Given the description of an element on the screen output the (x, y) to click on. 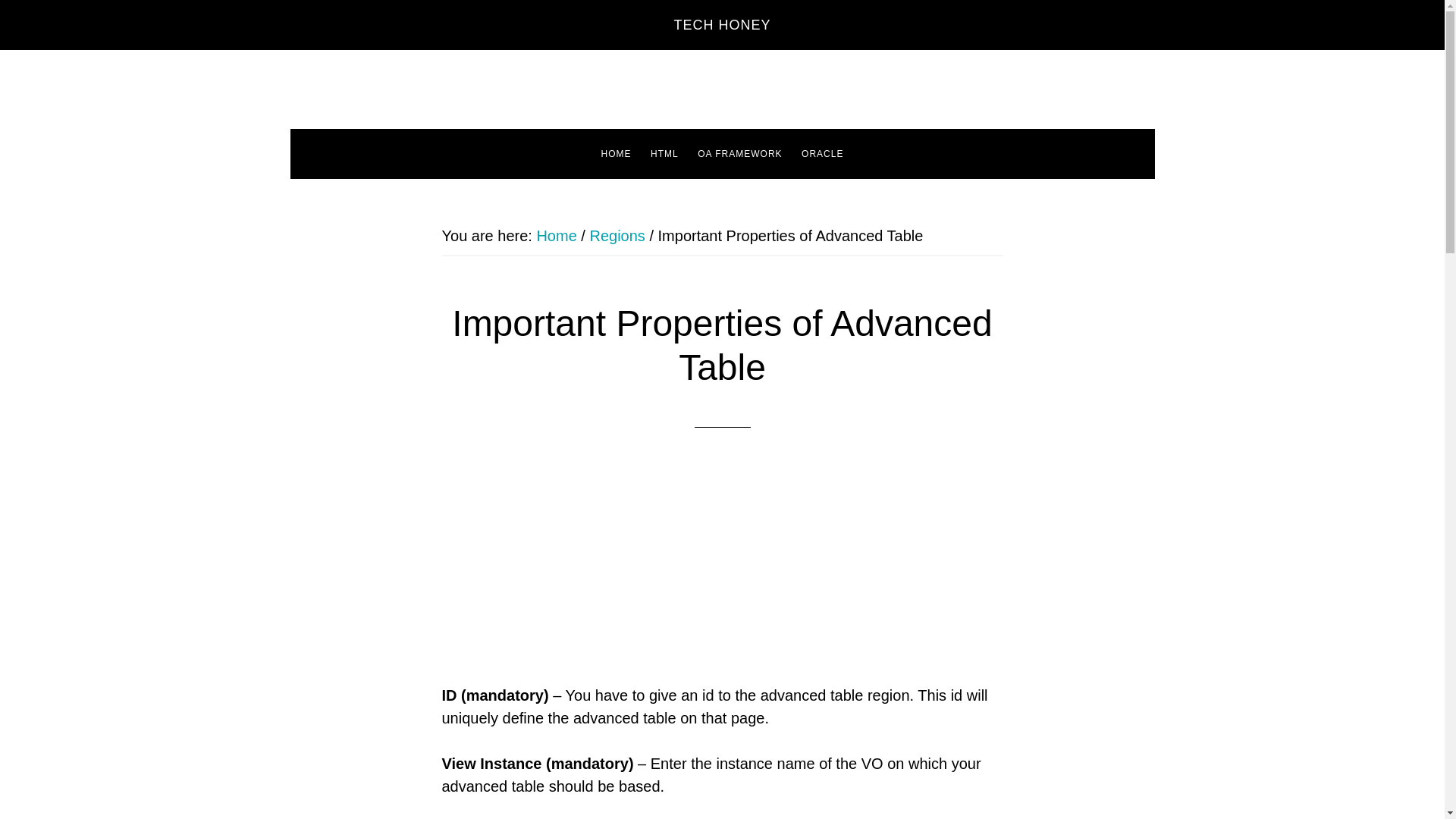
Regions (617, 235)
Advertisement (721, 575)
HOME (616, 153)
ORACLE (821, 153)
TECH HONEY (721, 24)
OA FRAMEWORK (739, 153)
Home (555, 235)
